Given the description of an element on the screen output the (x, y) to click on. 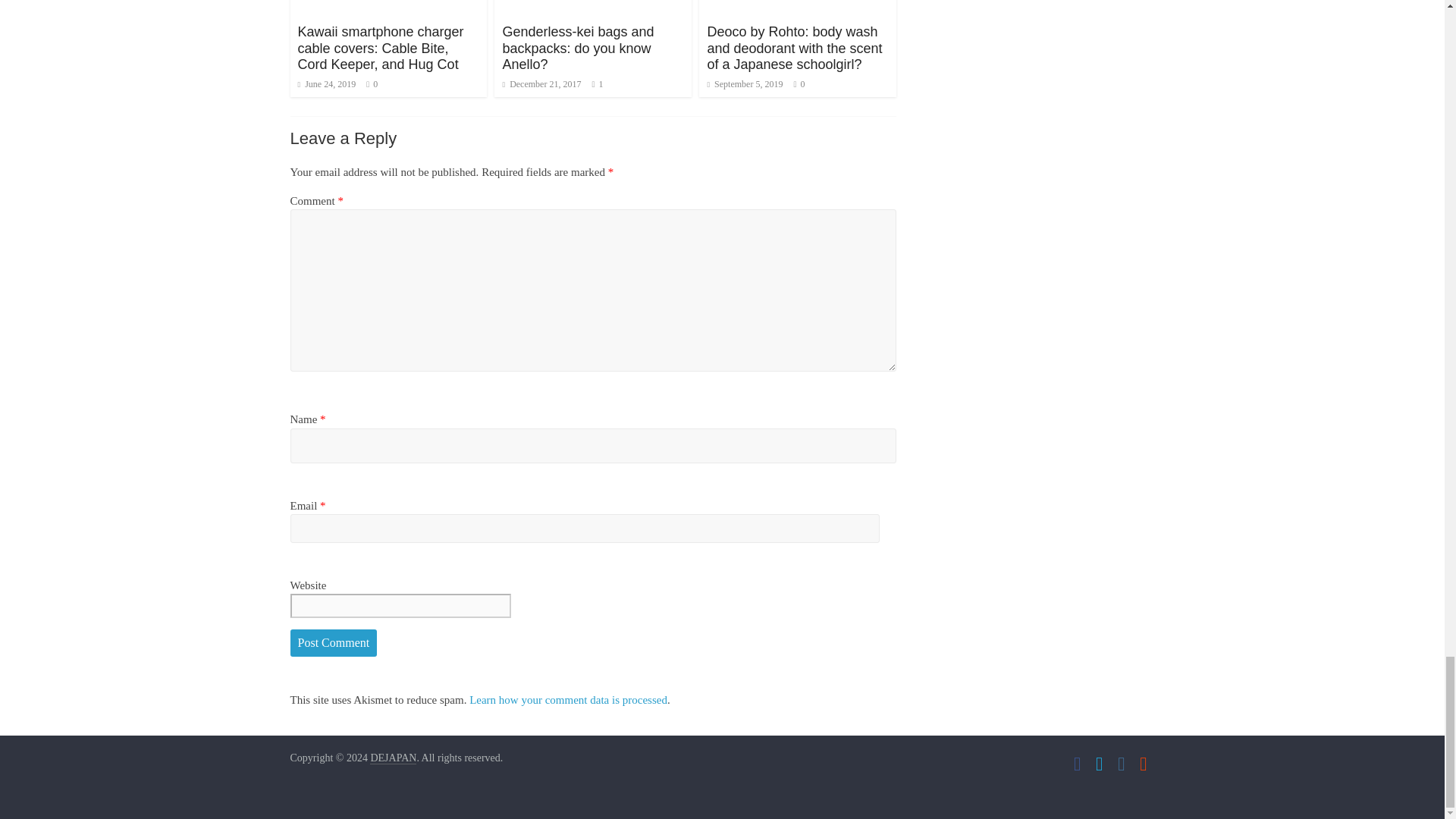
Genderless-kei bags and backpacks: do you know Anello? (577, 48)
00:00 (541, 83)
00:00 (326, 83)
Post Comment (333, 642)
